Given the description of an element on the screen output the (x, y) to click on. 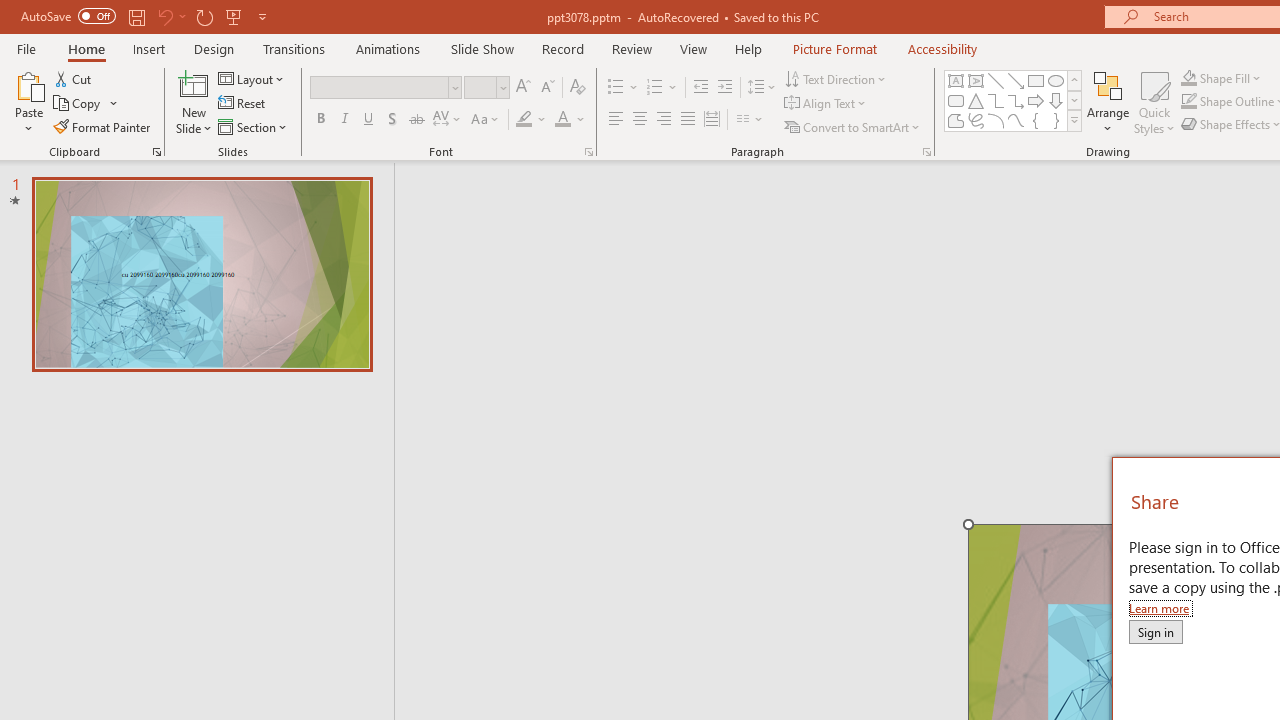
Arrange (1108, 102)
Arc (995, 120)
Shadow (392, 119)
Curve (1016, 120)
Align Right (663, 119)
Freeform: Shape (955, 120)
Learn more (1160, 608)
Freeform: Scribble (975, 120)
